Given the description of an element on the screen output the (x, y) to click on. 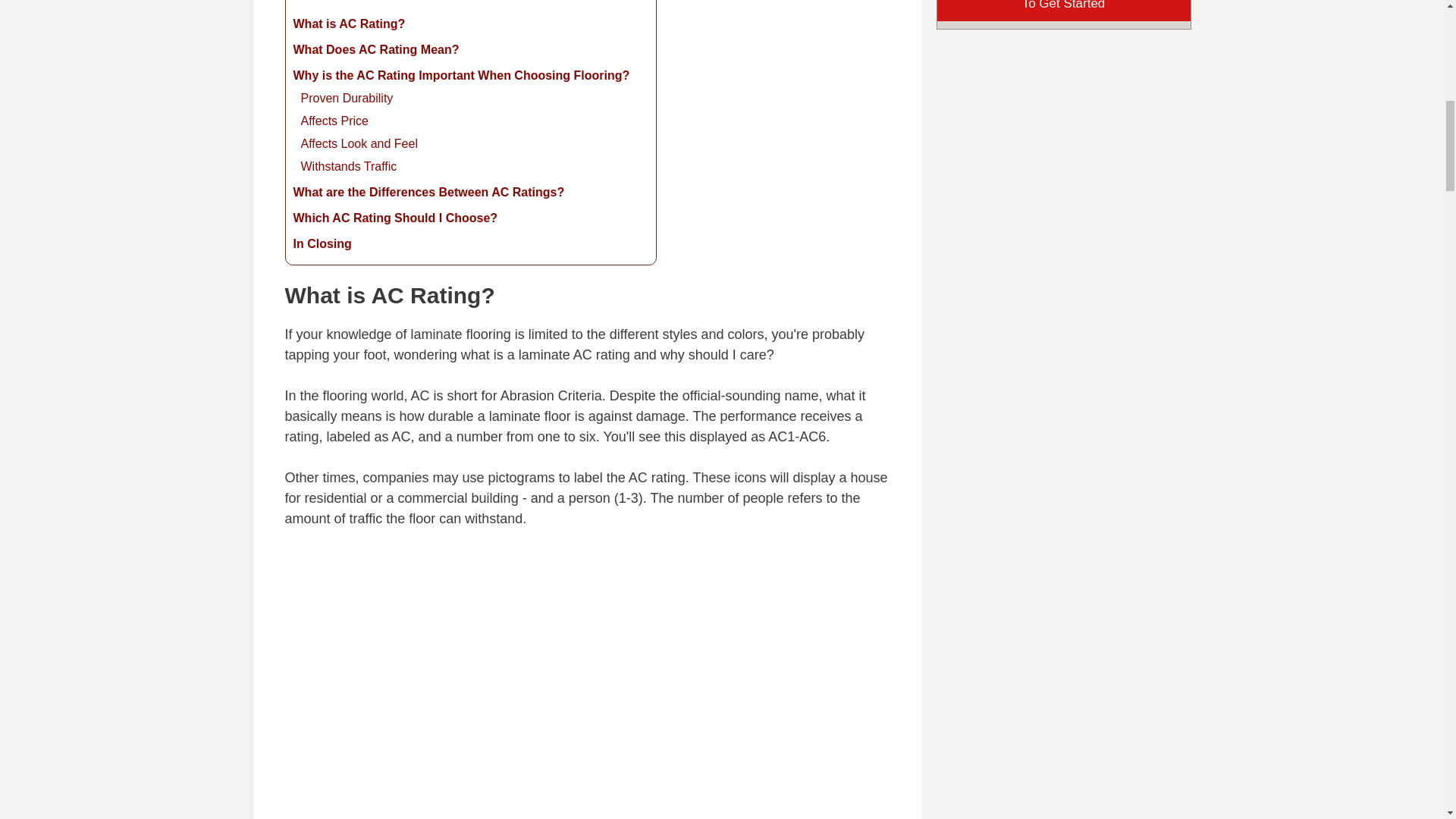
Laminate-AC-rating-class (586, 684)
Scroll back to top (1406, 671)
